Given the description of an element on the screen output the (x, y) to click on. 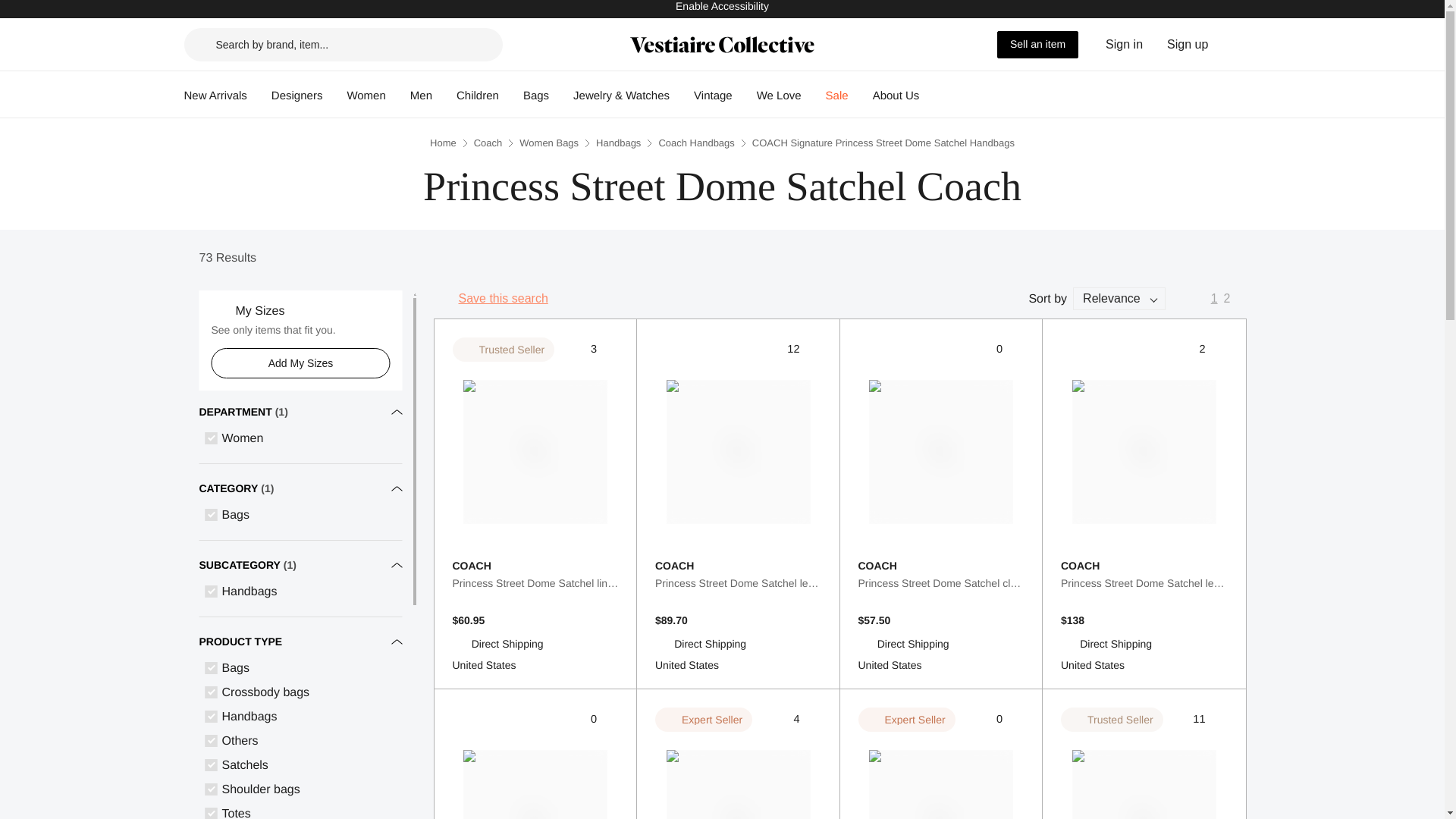
Add My Sizes (300, 363)
Coach Handbags (695, 142)
Children (478, 95)
12 (804, 349)
Women Bags (548, 142)
New Arrivals (214, 95)
Designers (296, 95)
About Us (896, 95)
Save this search (490, 298)
Sell an item (1037, 43)
